Given the description of an element on the screen output the (x, y) to click on. 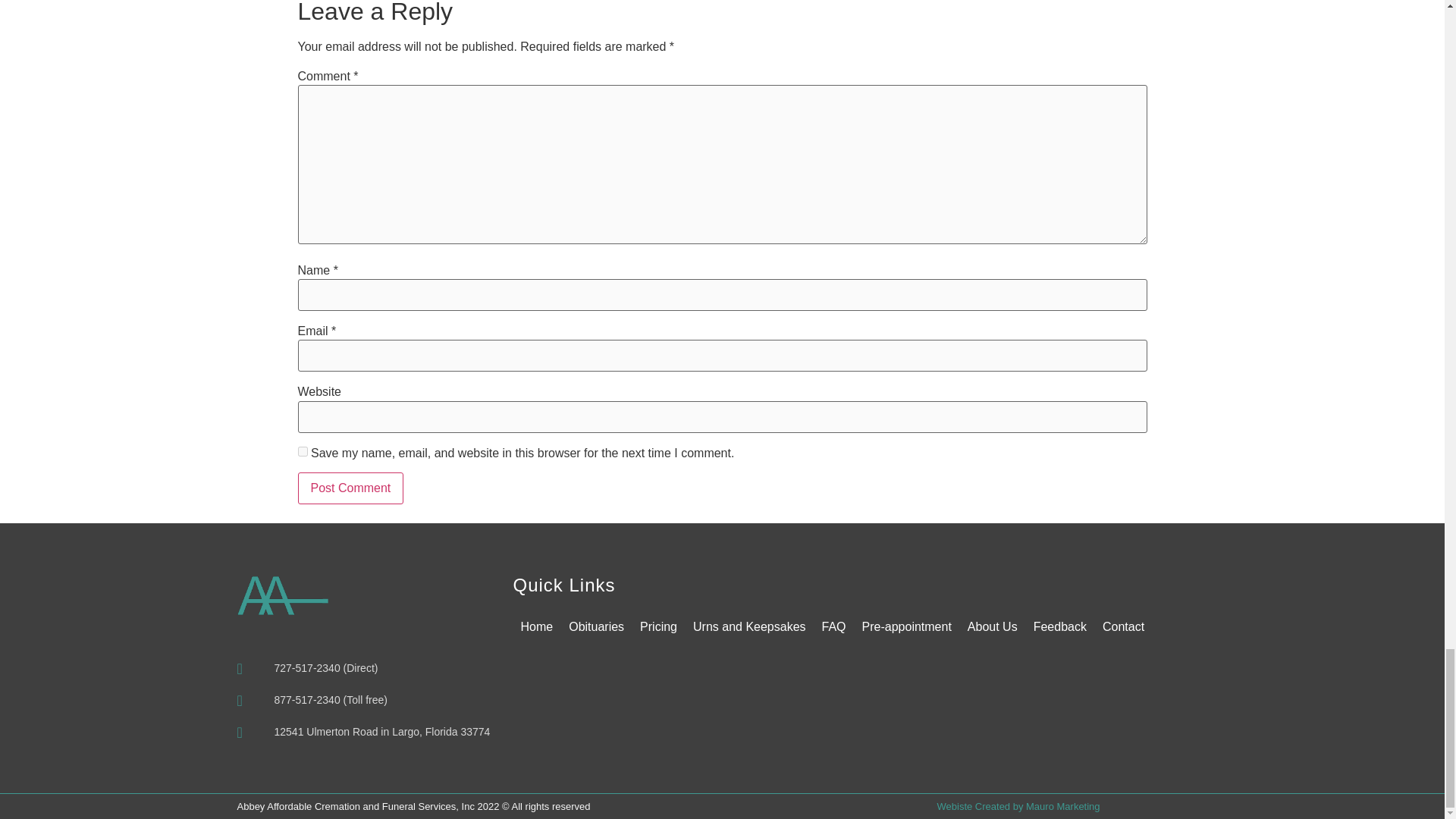
Home (536, 626)
Post Comment (350, 488)
Pricing (657, 626)
Obituaries (595, 626)
yes (302, 451)
Post Comment (350, 488)
